Given the description of an element on the screen output the (x, y) to click on. 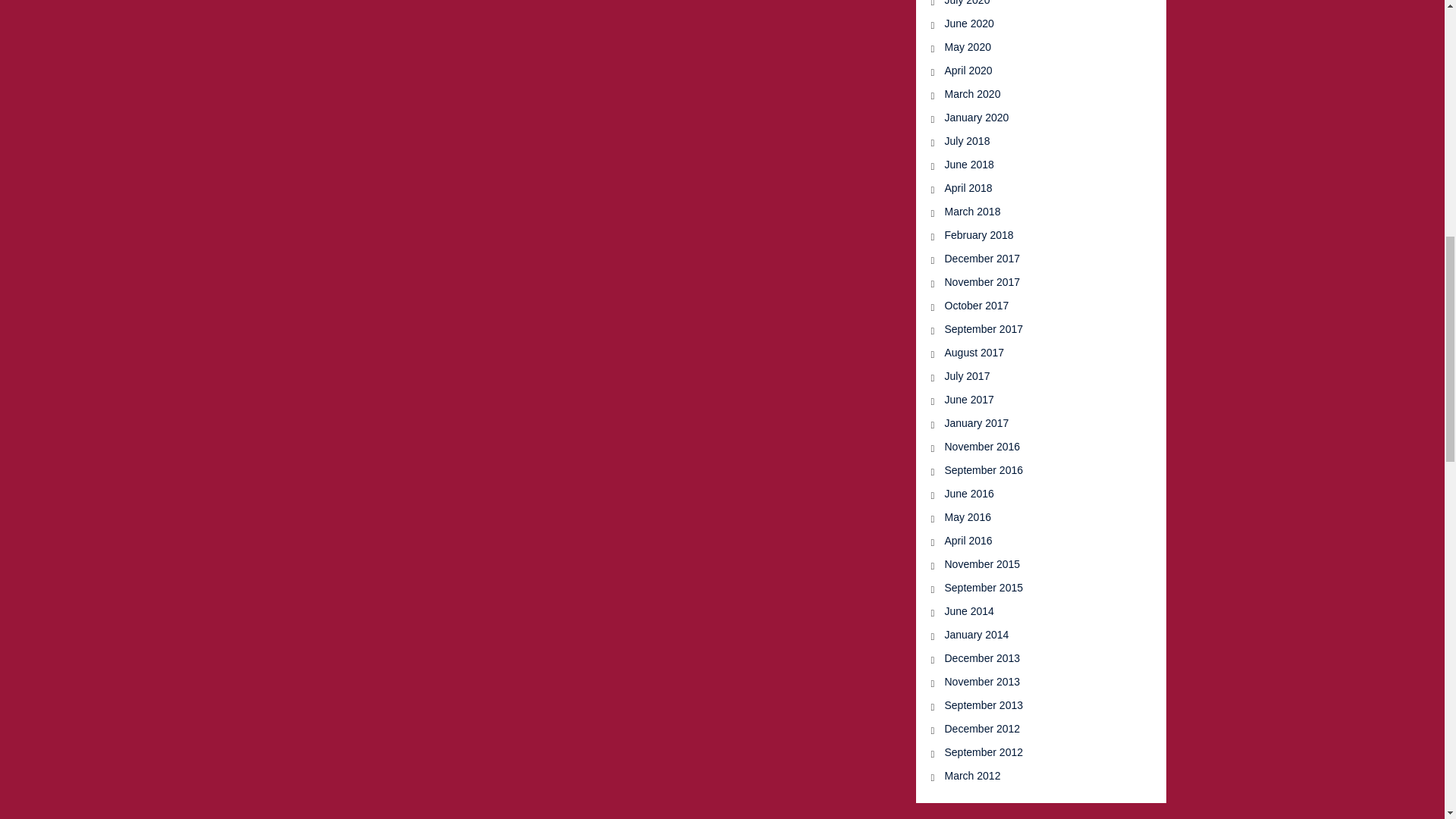
July 2020 (1031, 4)
July 2018 (1031, 141)
April 2018 (1031, 188)
May 2020 (1031, 47)
March 2020 (1031, 94)
April 2020 (1031, 70)
January 2020 (1031, 117)
June 2018 (1031, 164)
June 2020 (1031, 23)
